Given the description of an element on the screen output the (x, y) to click on. 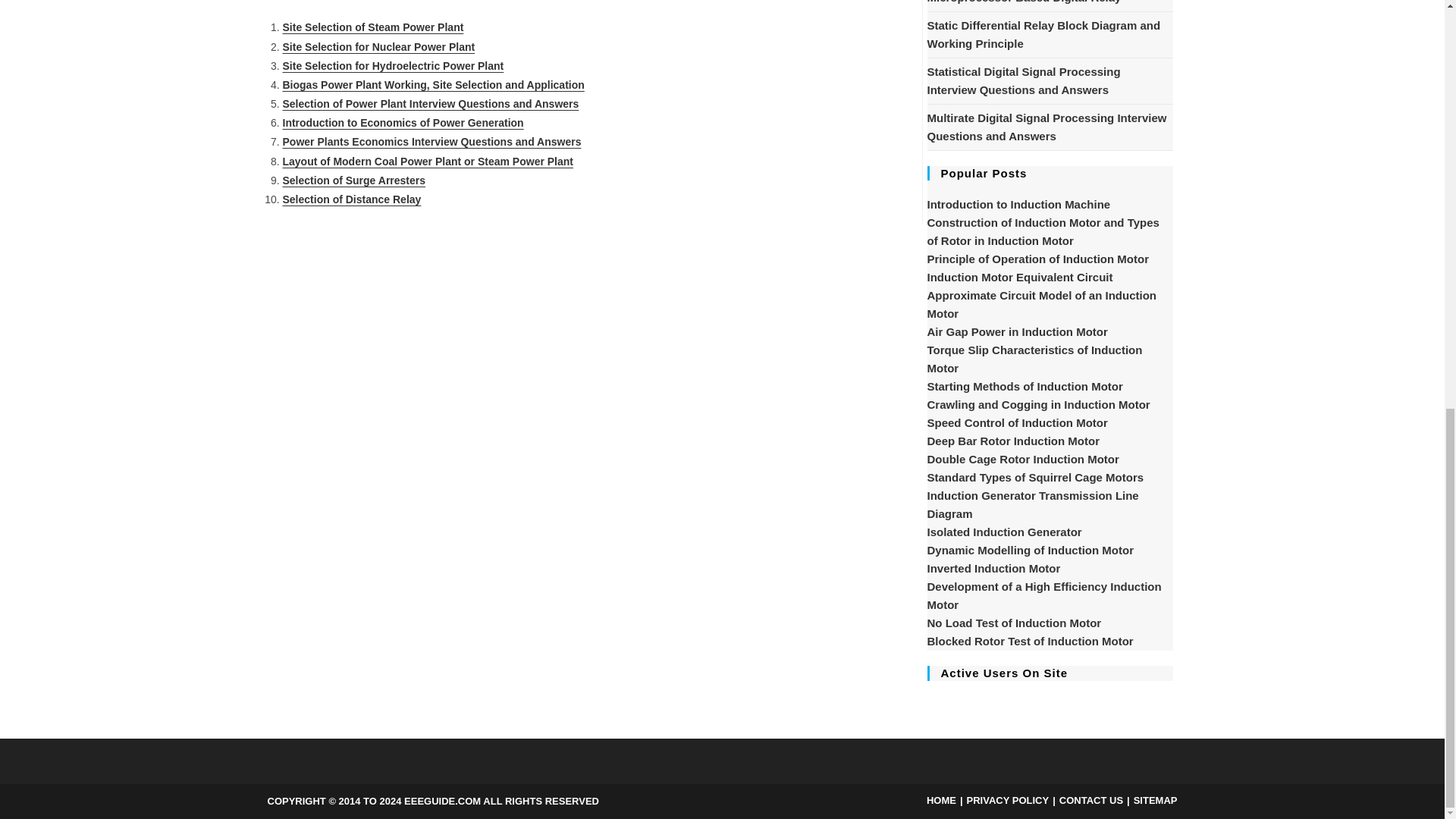
Site Selection of Steam Power Plant (372, 27)
Site Selection for Nuclear Power Plant (378, 46)
